Given the description of an element on the screen output the (x, y) to click on. 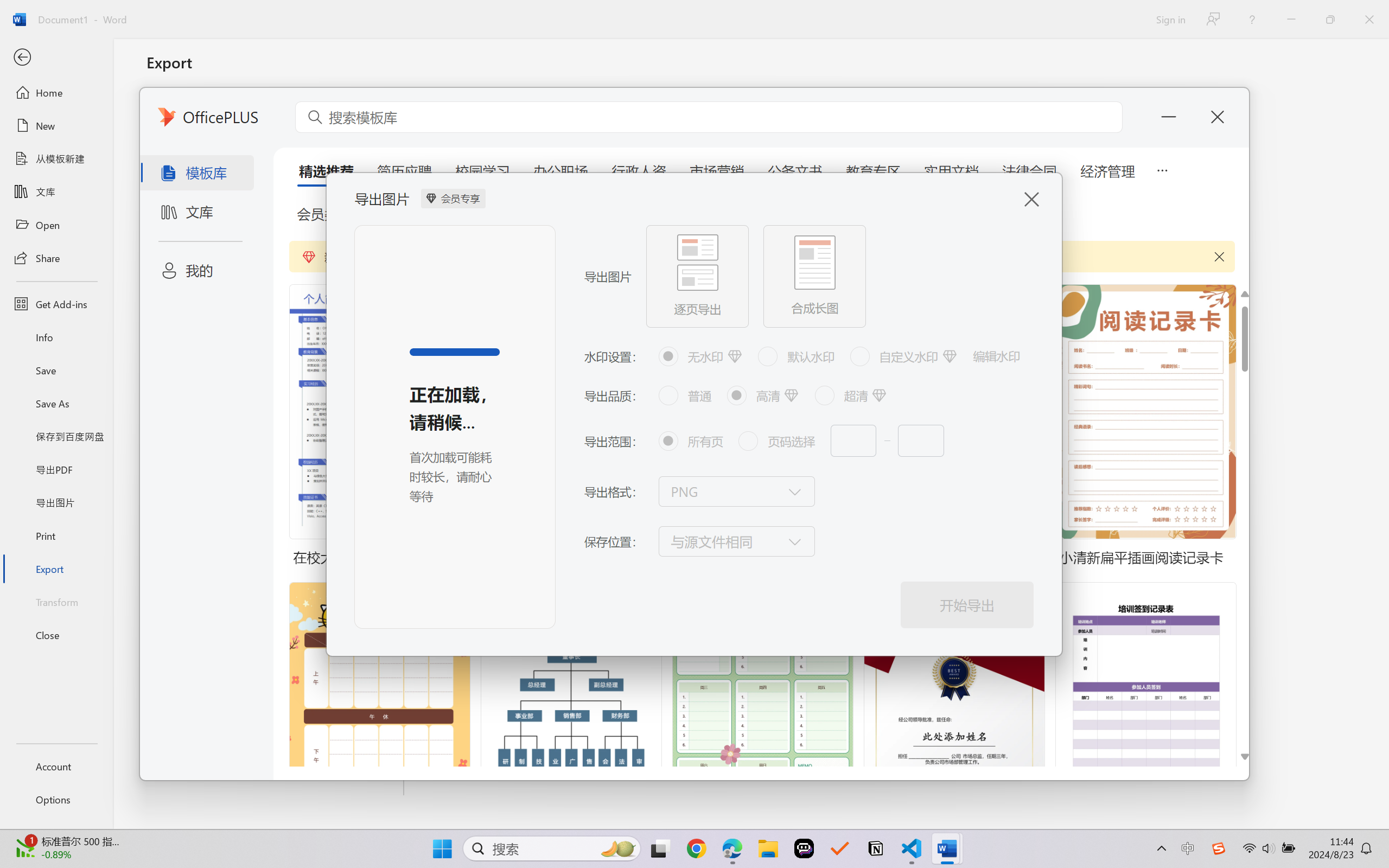
Info (56, 337)
Sign in (1170, 18)
